Given the description of an element on the screen output the (x, y) to click on. 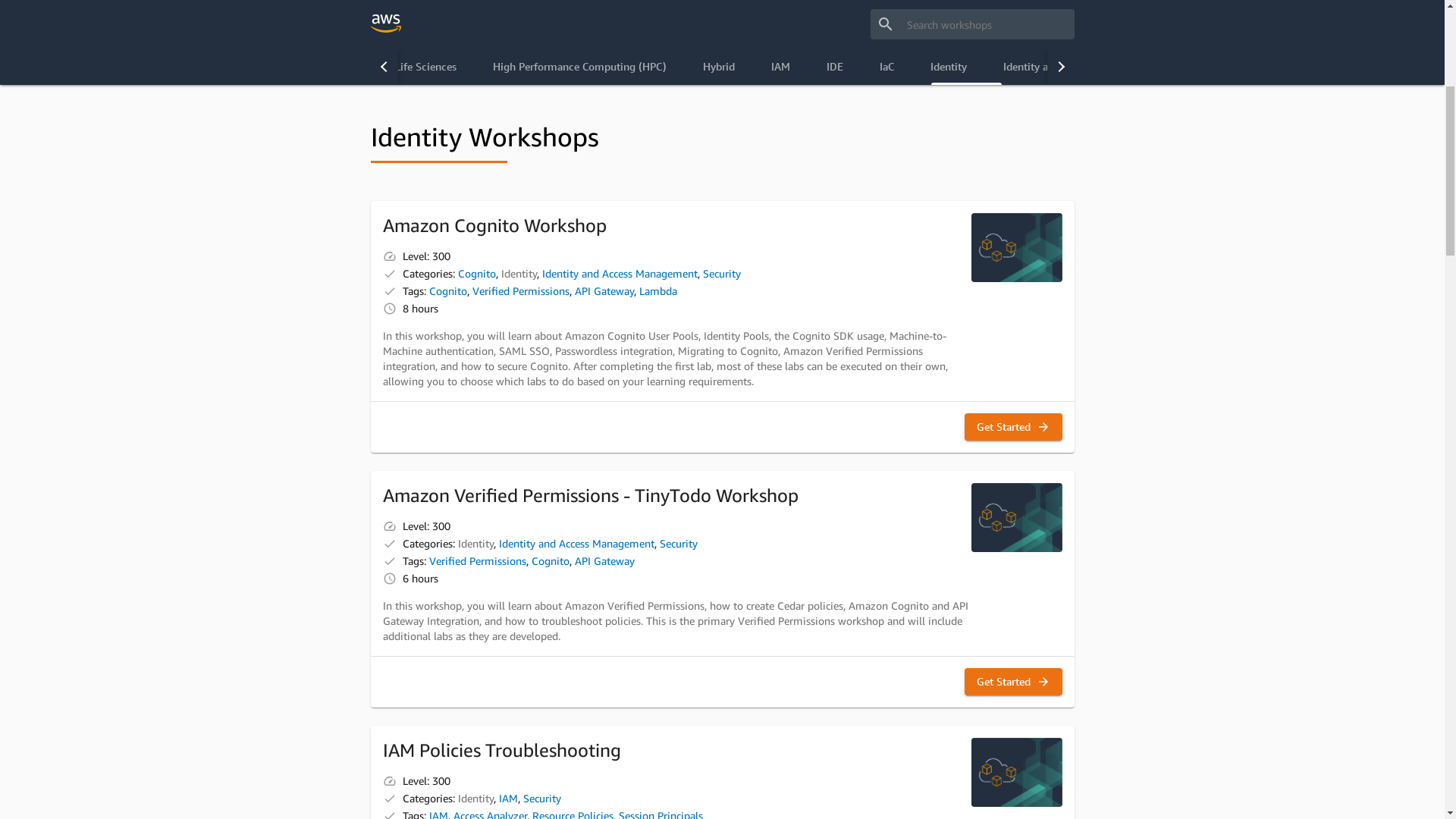
Hybrid Element type: text (718, 432)
Identity and Access Management Element type: text (618, 639)
Lambda Element type: text (657, 656)
IAM Element type: text (779, 432)
API Gateway Element type: text (603, 656)
Cognito Element type: text (448, 656)
Get Started
arrow_forward Element type: text (1013, 792)
Security Element type: text (721, 639)
Verified Permissions Element type: text (519, 656)
Healthcare & Life Sciences Element type: text (393, 432)
Cognito Element type: text (476, 639)
IaC Element type: text (886, 432)
High Performance Computing (HPC) Element type: text (579, 432)
Identity Element type: text (947, 432)
IDE Element type: text (834, 432)
Identity and Access Management Element type: text (1080, 432)
